Given the description of an element on the screen output the (x, y) to click on. 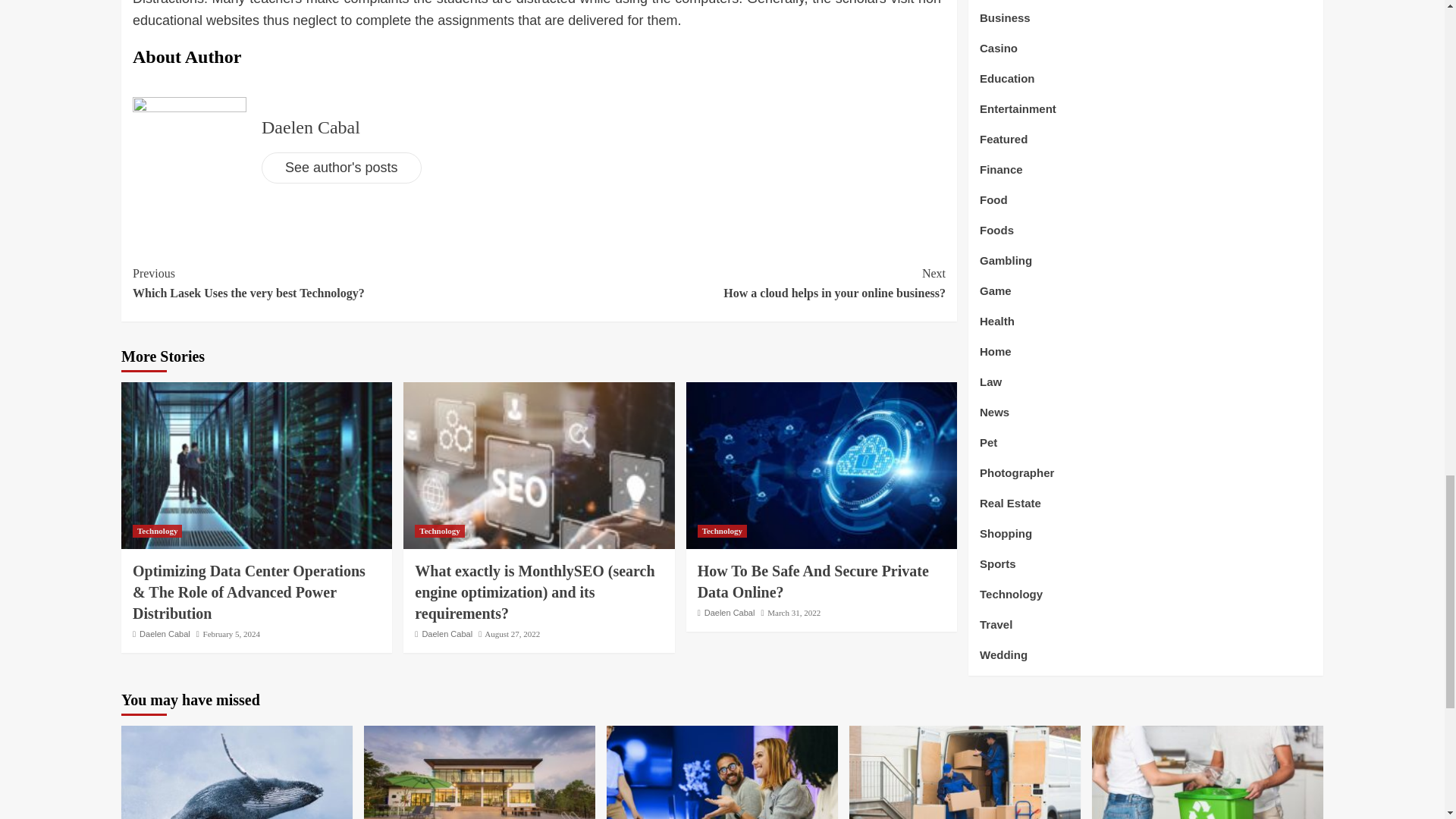
Technology (157, 530)
February 5, 2024 (231, 633)
See author's posts (342, 167)
Technology (721, 530)
Technology (439, 530)
Daelen Cabal (310, 127)
August 27, 2022 (512, 633)
Daelen Cabal (446, 633)
Daelen Cabal (164, 633)
